Given the description of an element on the screen output the (x, y) to click on. 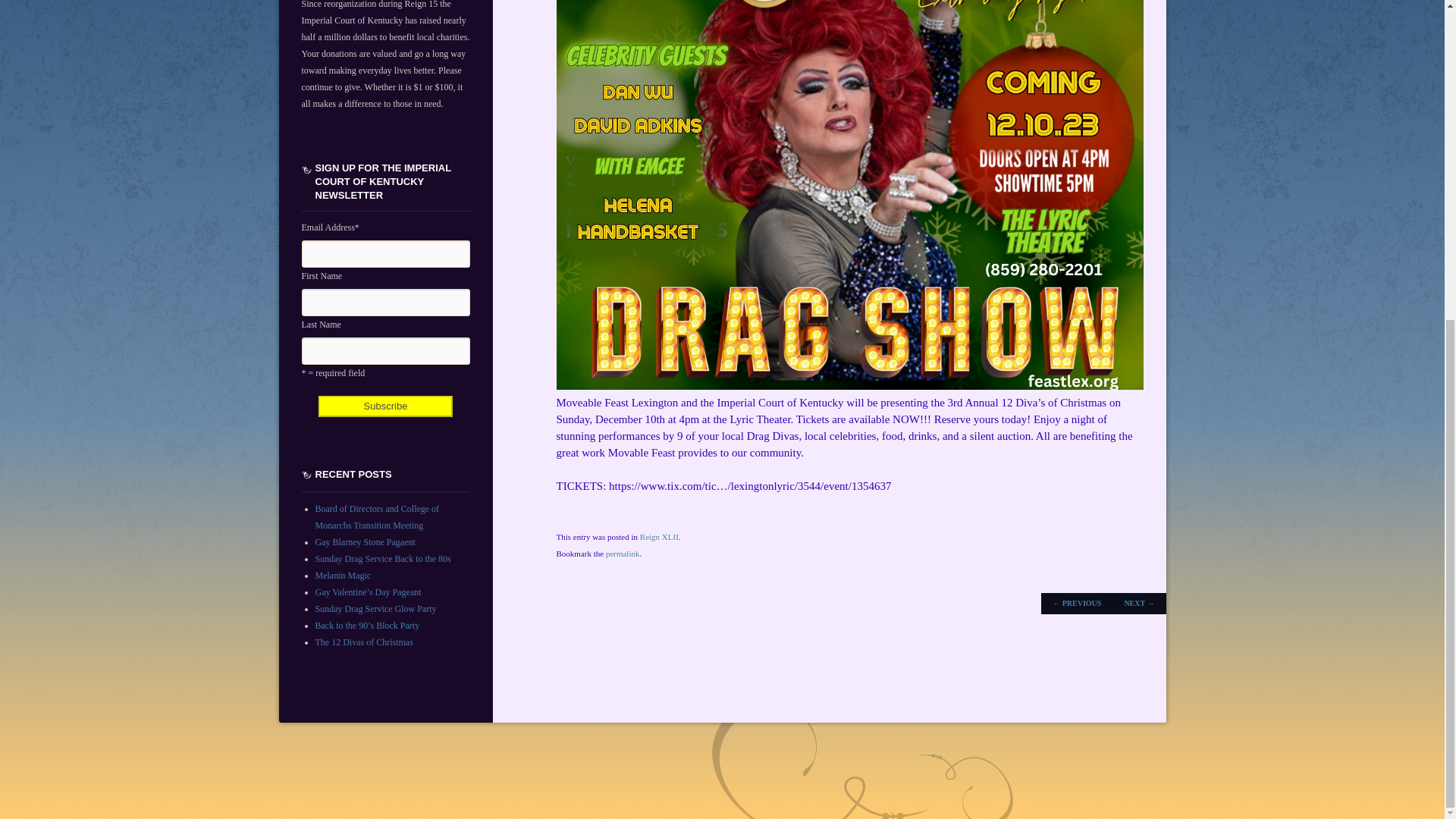
Gay Blarney Stone Pagaent (364, 542)
Sunday Drag Service Back to the 80s (383, 558)
Subscribe (385, 405)
Melanin Magic (343, 575)
Sunday Drag Service Glow Party (375, 608)
The 12 Divas of Christmas (364, 642)
permalink (622, 552)
Permalink to The 12 Divas of Christmas (622, 552)
Reign XLII (659, 536)
